Given the description of an element on the screen output the (x, y) to click on. 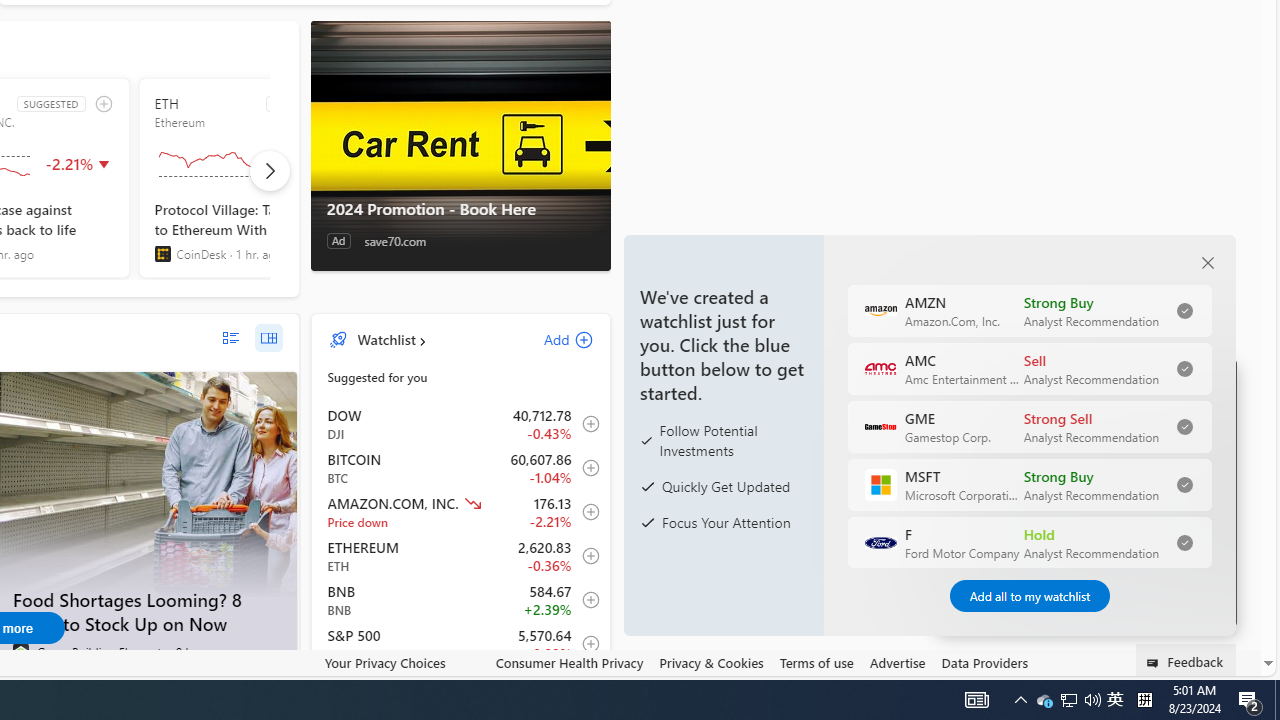
ETH SUGGESTED Ethereum (258, 178)
Green Building Elements (20, 651)
ETH Ethereum decrease 2,620.83 -9.43 -0.36% item3 (461, 556)
BTC Bitcoin decrease 60,607.86 -629.74 -1.04% item1 (461, 467)
Your Privacy Choices (401, 663)
AMZN AMAZON.COM, INC. decrease 176.13 -3.98 -2.21% item2 (461, 512)
Terms of use (816, 663)
Privacy & Cookies (711, 662)
add to watchlist (103, 103)
